Given the description of an element on the screen output the (x, y) to click on. 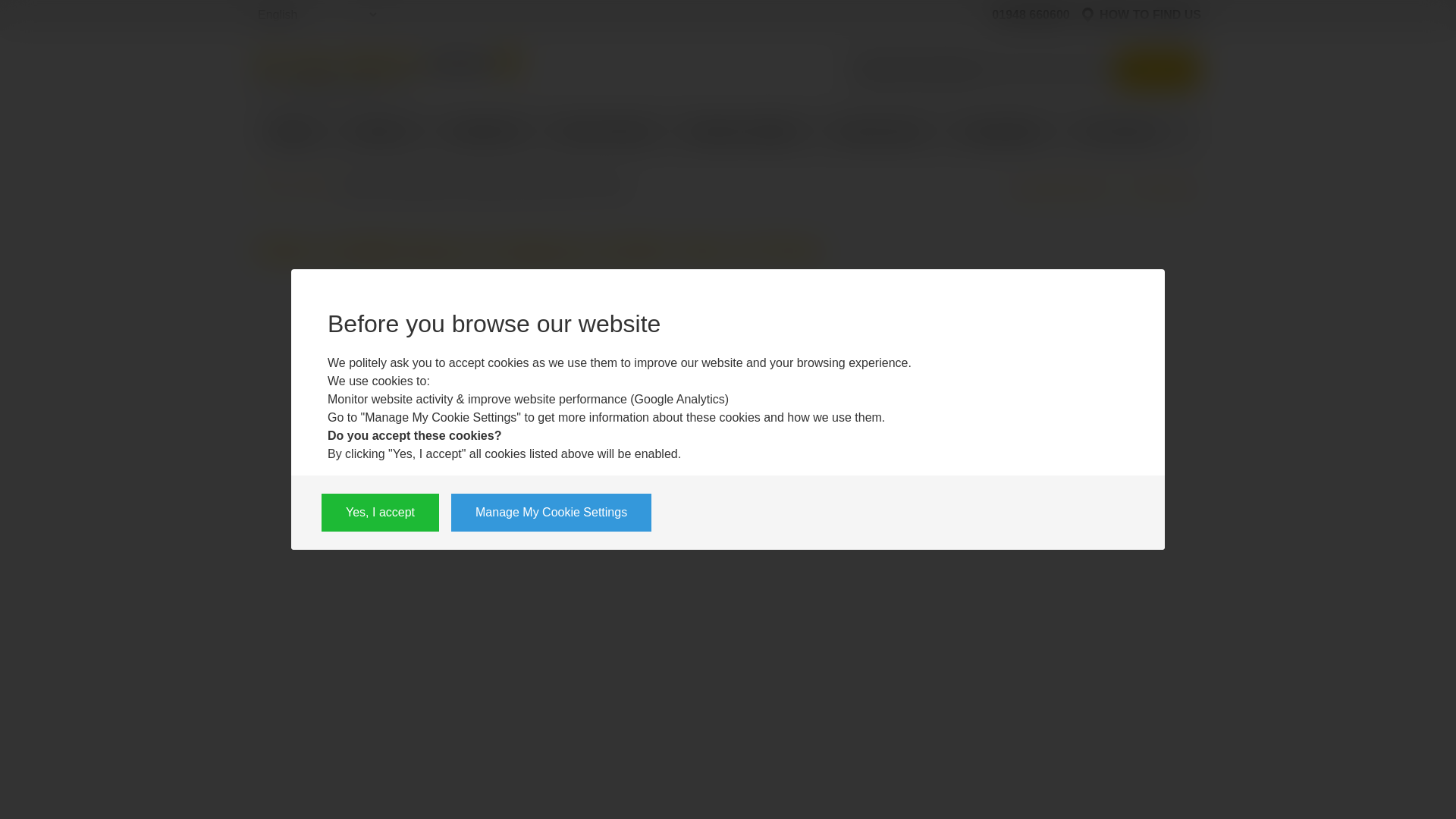
About Us (382, 133)
HOW TO FIND US (1141, 14)
Home (293, 130)
Yes, I accept (380, 512)
School Life (485, 133)
01948 660600 (1023, 14)
Manage My Cookie Settings (550, 512)
SEARCH (1157, 69)
